Given the description of an element on the screen output the (x, y) to click on. 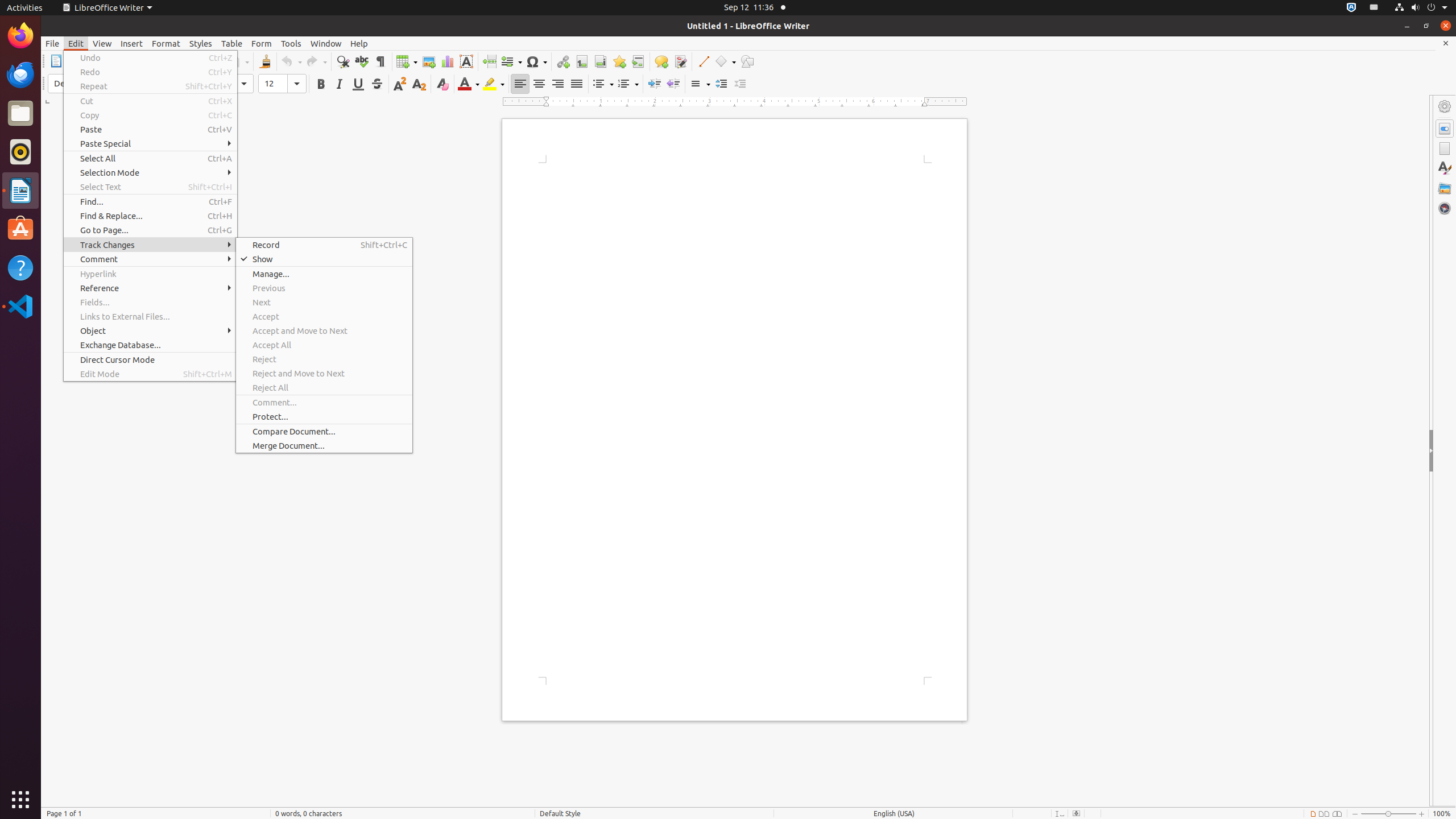
Text Box Element type: push-button (465, 61)
Copy Element type: menu-item (150, 115)
Fields... Element type: menu-item (150, 302)
Accept and Move to Next Element type: menu-item (324, 330)
Tools Element type: menu (290, 43)
